Given the description of an element on the screen output the (x, y) to click on. 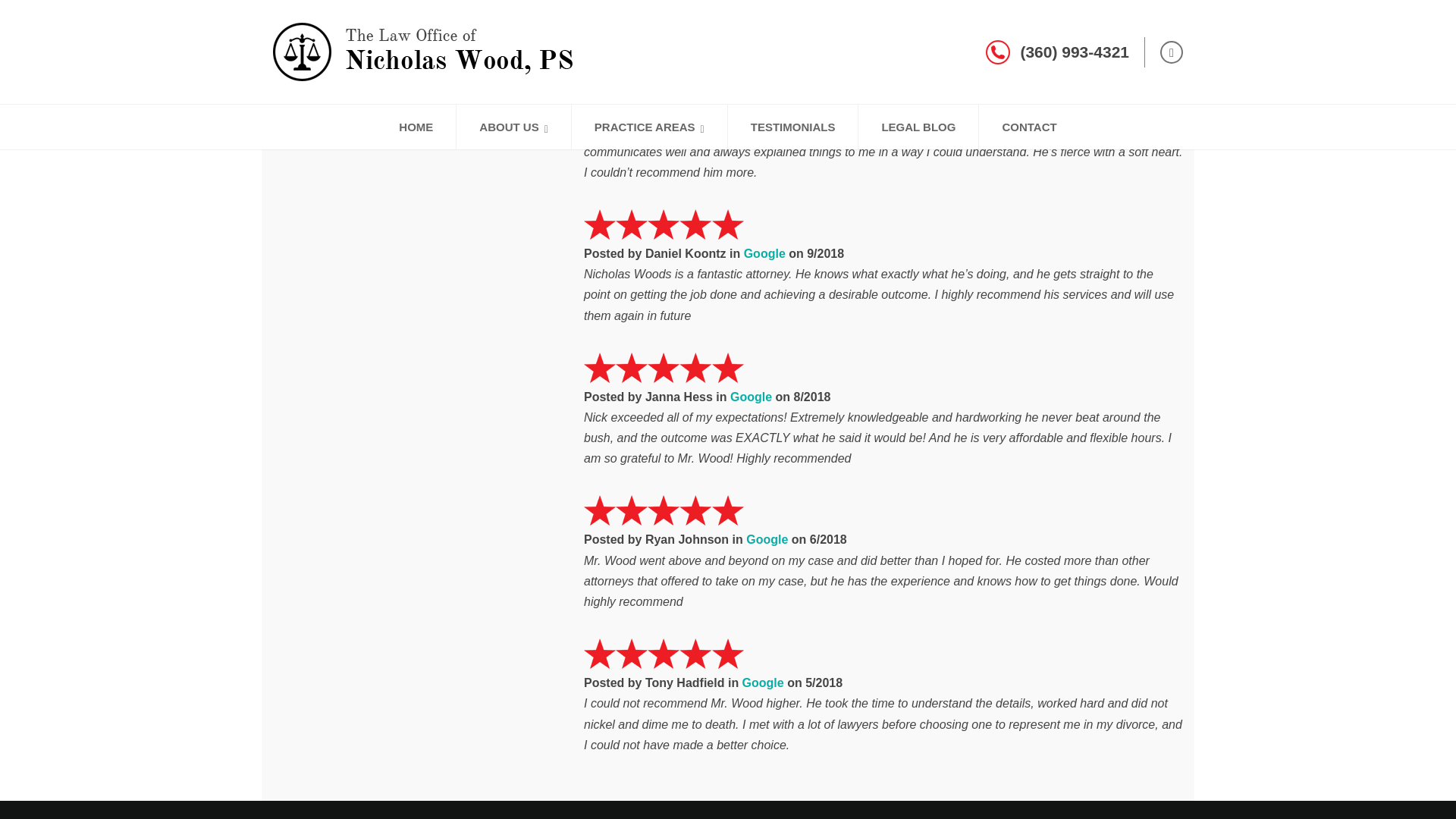
LEGAL BLOG (918, 126)
5-stars (663, 60)
Facebook (1171, 51)
5-stars (663, 224)
CONTACT (1028, 126)
ABOUT US (513, 126)
TESTIMONIALS (793, 126)
5-stars (663, 510)
5-stars (663, 367)
HOME (416, 126)
